Given the description of an element on the screen output the (x, y) to click on. 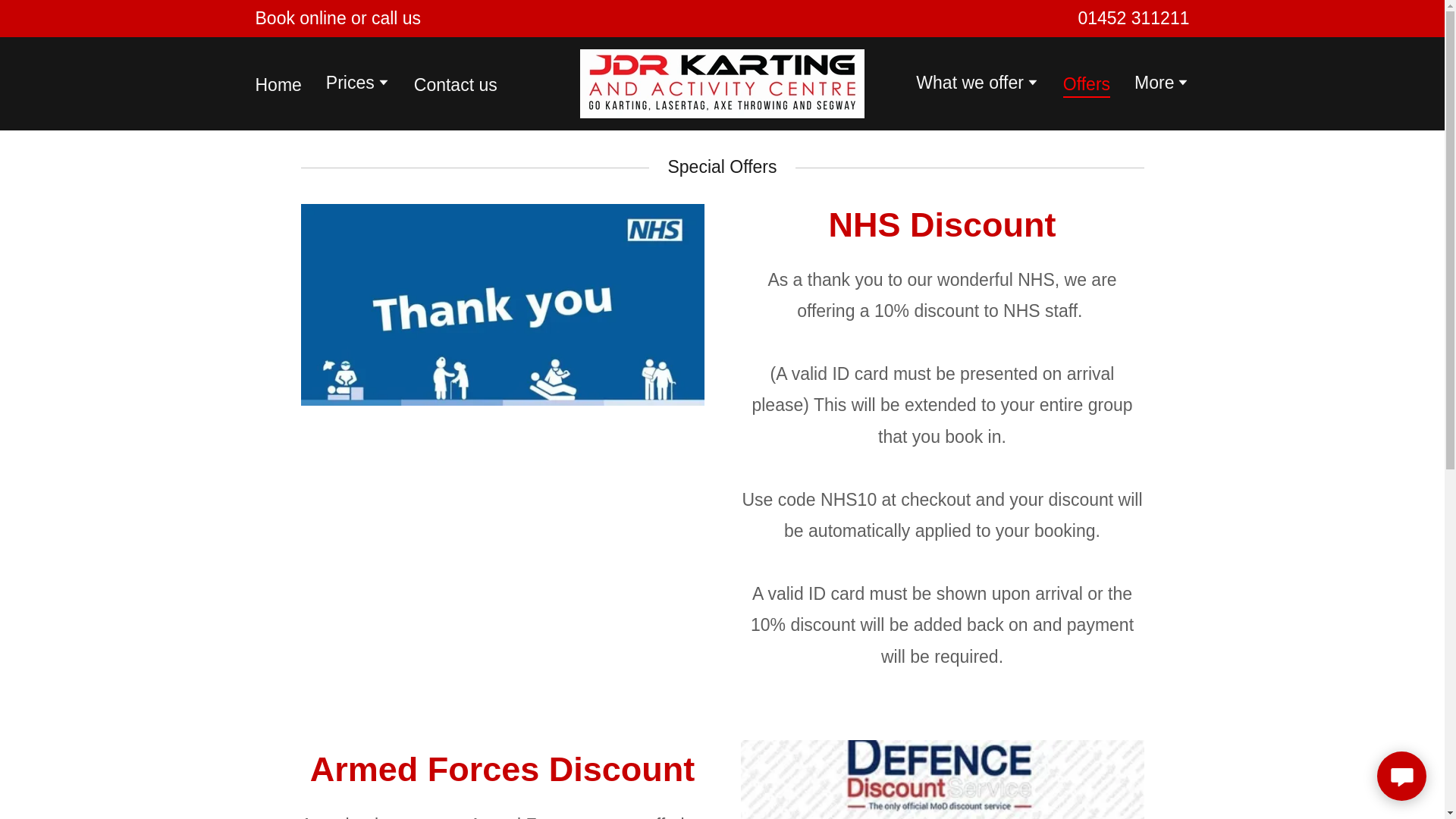
Book online or call us (337, 18)
JDR Karting and Activity Center (721, 82)
Contact us (455, 84)
Home (277, 84)
01452 311211 (1133, 17)
Prices (358, 84)
